Given the description of an element on the screen output the (x, y) to click on. 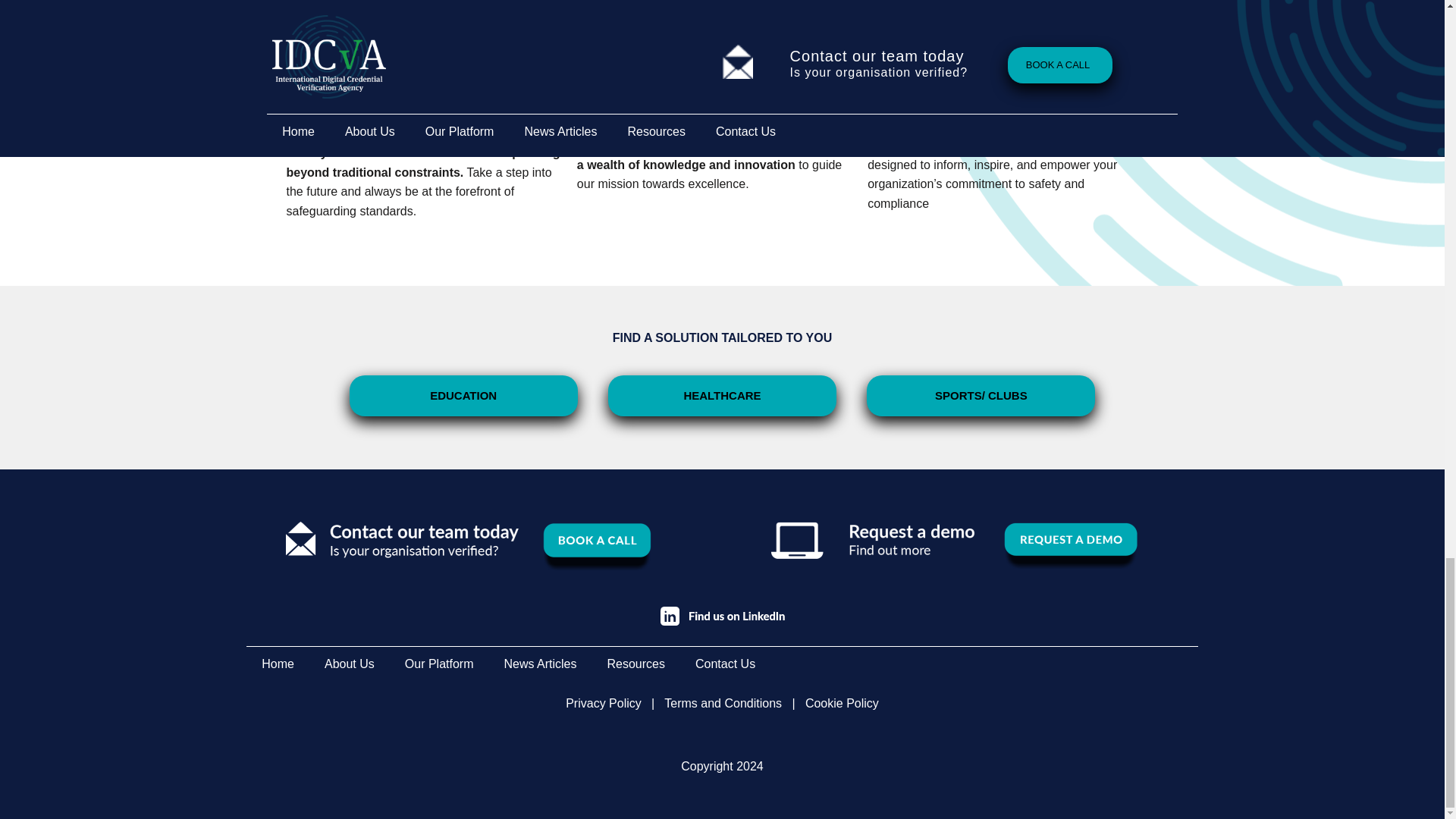
EDUCATION (462, 395)
Resources (635, 664)
Contact Us (724, 664)
HEALTHCARE (721, 395)
News Articles (539, 664)
About Us (349, 664)
Our Platform (439, 664)
Home (277, 664)
